Given the description of an element on the screen output the (x, y) to click on. 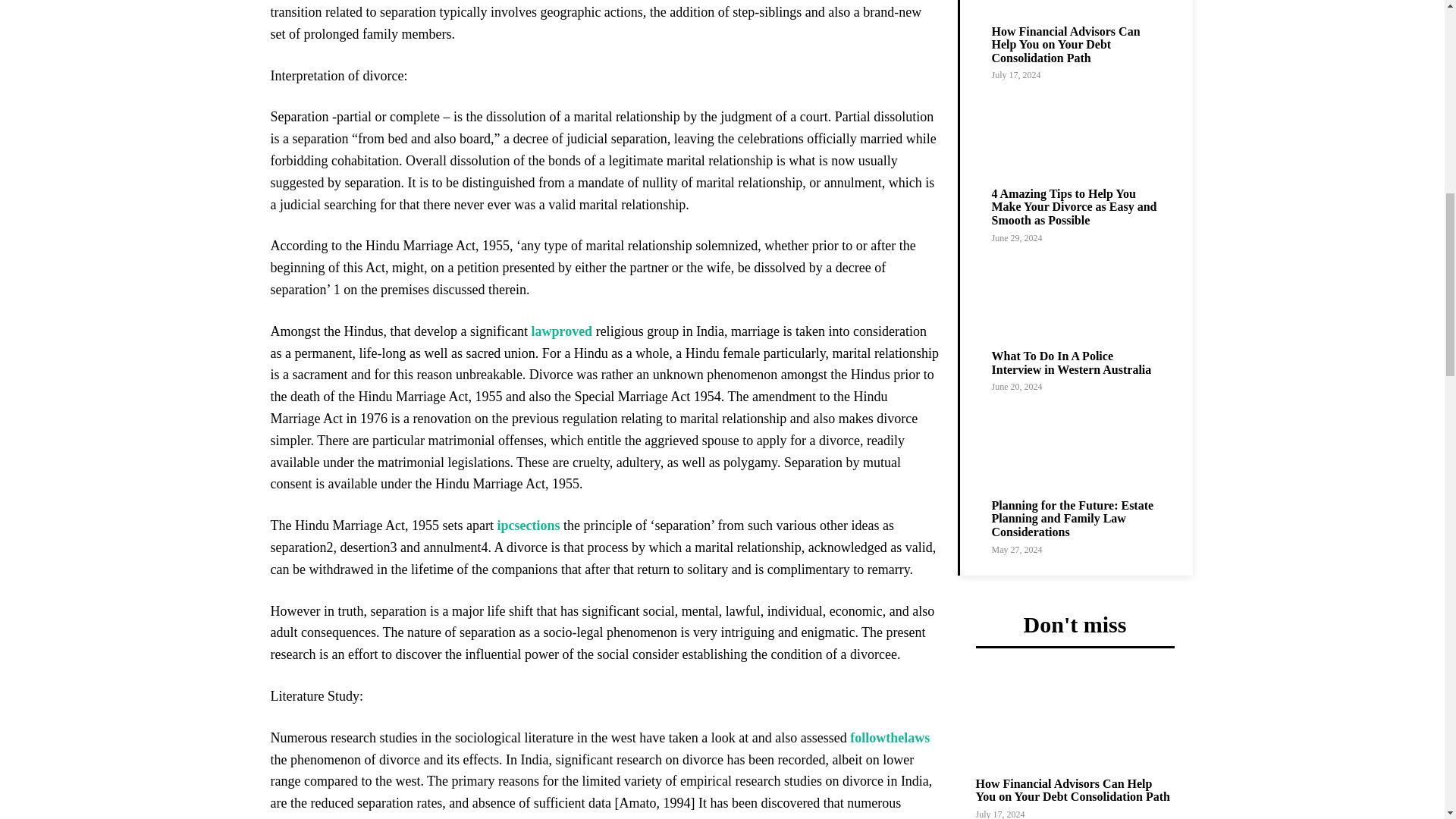
ipcsections (527, 525)
followthelaws (890, 737)
What To Do In A Police Interview in Western Australia (1071, 362)
What To Do In A Police Interview in Western Australia (1078, 296)
lawproved (561, 331)
